Given the description of an element on the screen output the (x, y) to click on. 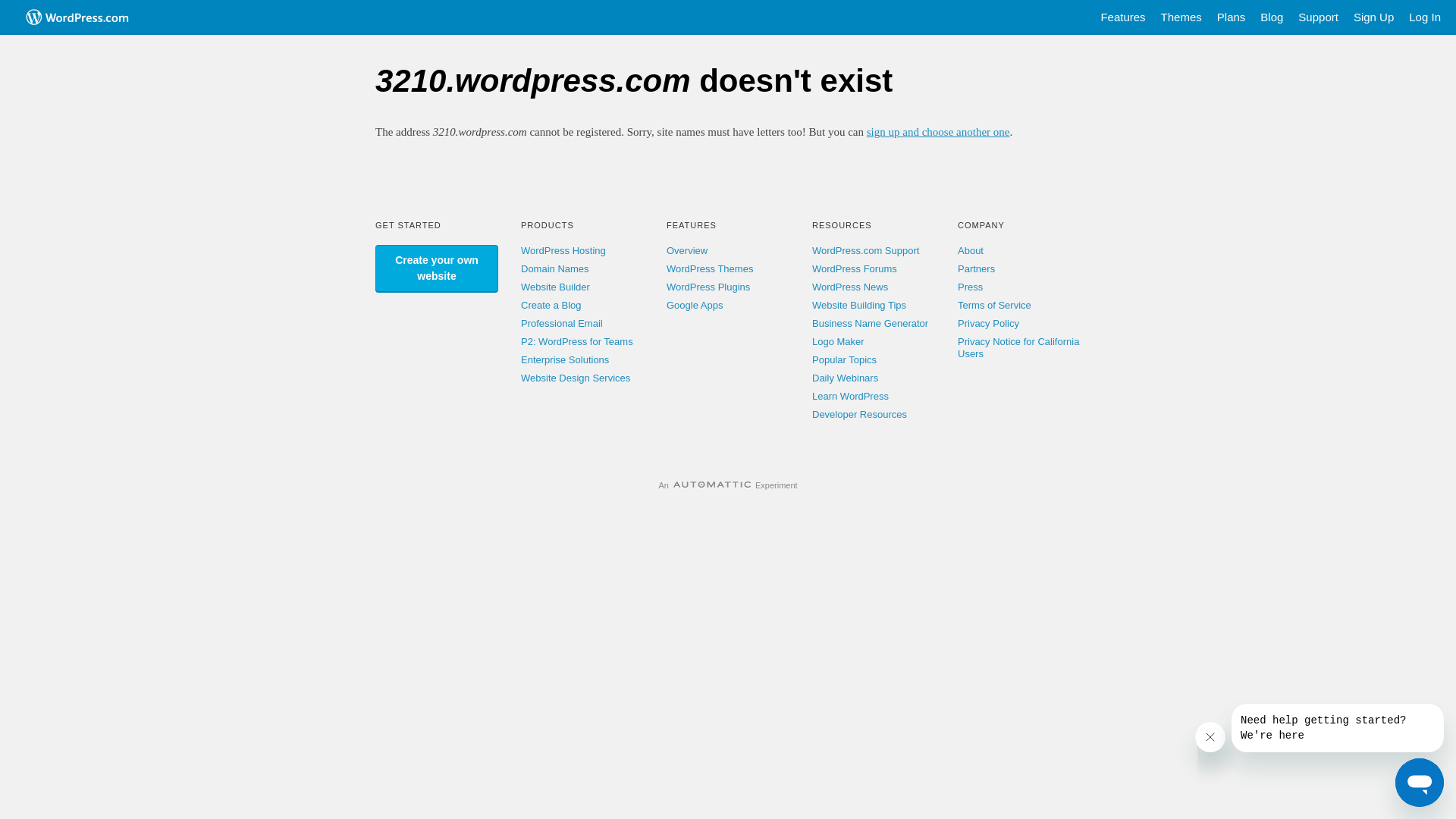
Daily Webinars Element type: text (845, 377)
Press Element type: text (969, 286)
Enterprise Solutions Element type: text (564, 359)
WordPress News Element type: text (850, 286)
WordPress Hosting Element type: text (562, 250)
Overview Element type: text (686, 250)
Button to launch messaging window Element type: hover (1419, 782)
Create a Blog Element type: text (550, 304)
Professional Email Element type: text (561, 323)
Plans Element type: text (1231, 17)
WordPress Plugins Element type: text (707, 286)
Popular Topics Element type: text (844, 359)
Automattic Element type: text (711, 485)
sign up and choose another one Element type: text (938, 131)
Terms of Service Element type: text (994, 304)
Partners Element type: text (975, 268)
Create your own website Element type: text (436, 268)
Privacy Policy Element type: text (988, 323)
P2: WordPress for Teams Element type: text (576, 341)
Privacy Notice for California Users Element type: text (1018, 347)
Features Element type: text (1122, 17)
Business Name Generator Element type: text (870, 323)
About Element type: text (970, 250)
Domain Names Element type: text (554, 268)
Logo Maker Element type: text (838, 341)
Website Design Services Element type: text (575, 377)
Close message Element type: hover (1210, 736)
Support Element type: text (1318, 17)
Google Apps Element type: text (694, 304)
WordPress Themes Element type: text (709, 268)
Website Building Tips Element type: text (859, 304)
Learn WordPress Element type: text (850, 395)
Developer Resources Element type: text (859, 414)
Blog Element type: text (1271, 17)
WordPress.com Support Element type: text (865, 250)
Website Builder Element type: text (554, 286)
Log In Element type: text (1424, 17)
Sign Up Element type: text (1373, 17)
Message from company Element type: hover (1337, 727)
Themes Element type: text (1181, 17)
WordPress Forums Element type: text (854, 268)
